Given the description of an element on the screen output the (x, y) to click on. 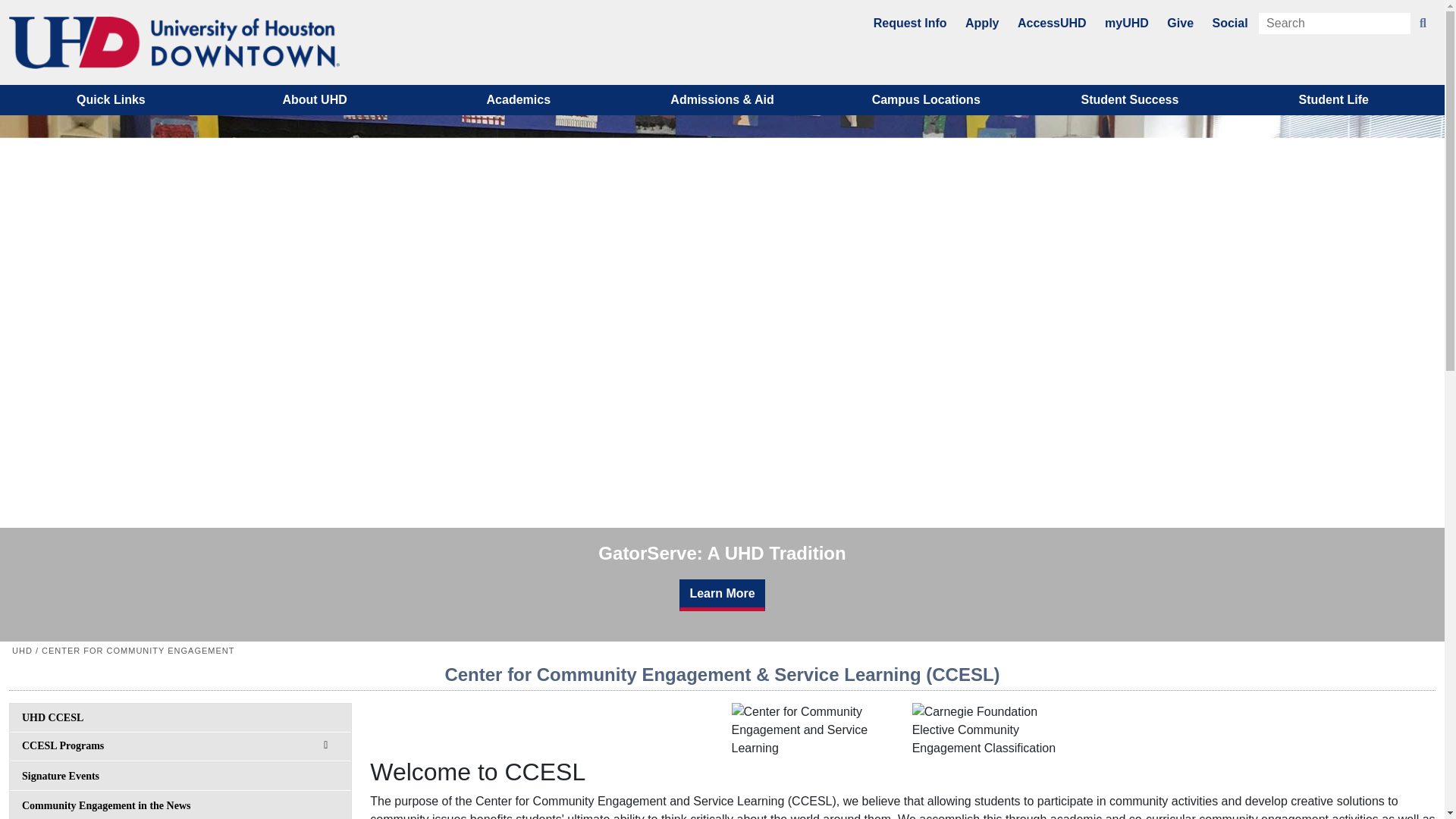
Quick Links (110, 100)
myUHD (1126, 22)
Apply (981, 22)
Give (1180, 22)
AccessUHD (1051, 22)
Social (1229, 22)
Request Info (910, 22)
submit (1422, 23)
